Given the description of an element on the screen output the (x, y) to click on. 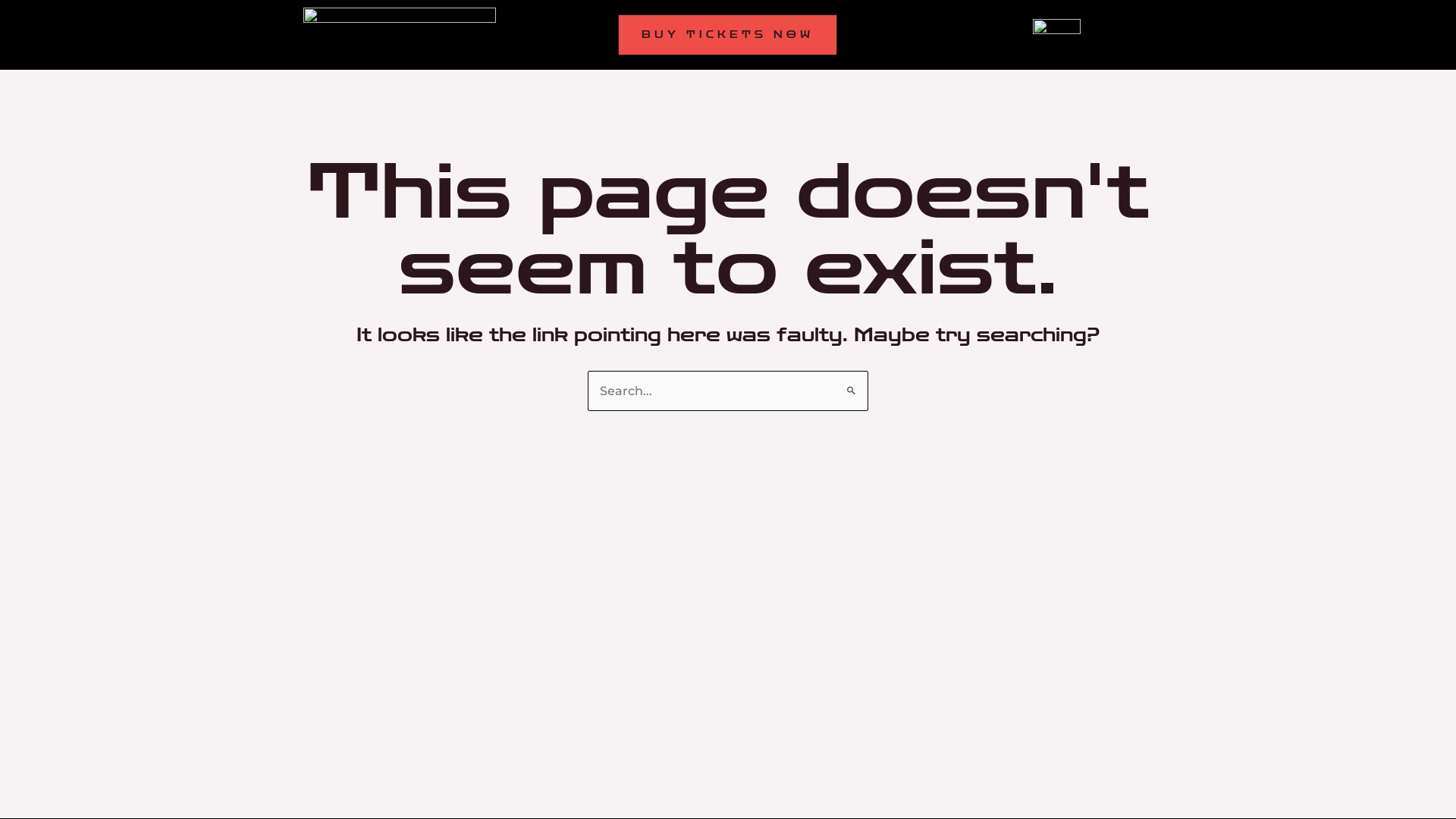
BUY TICKETS NOW Element type: text (727, 34)
Search Element type: text (851, 384)
